Given the description of an element on the screen output the (x, y) to click on. 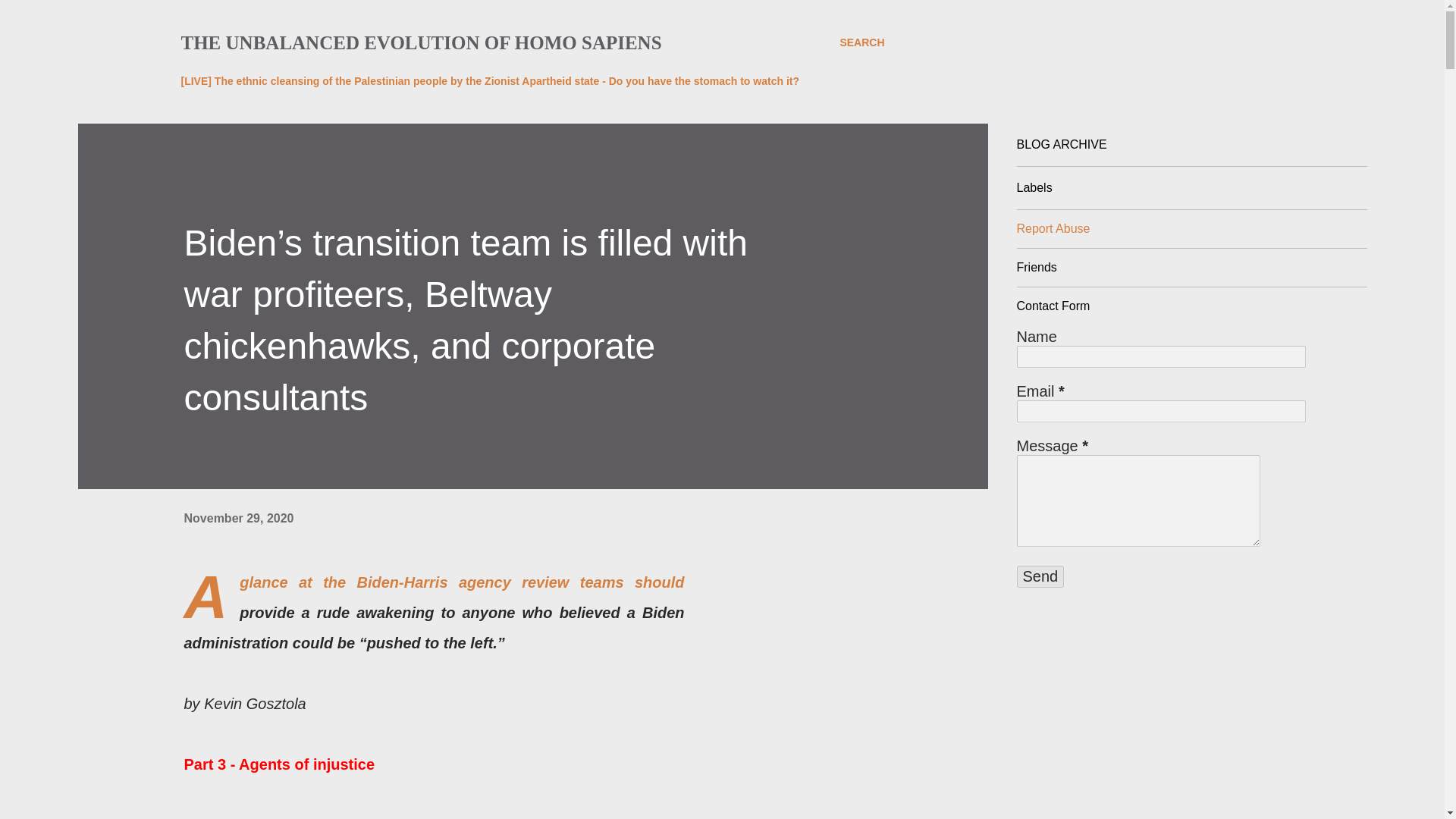
SEARCH (861, 42)
permanent link (238, 517)
November 29, 2020 (238, 517)
THE UNBALANCED EVOLUTION OF HOMO SAPIENS (420, 42)
Send (1040, 576)
